Given the description of an element on the screen output the (x, y) to click on. 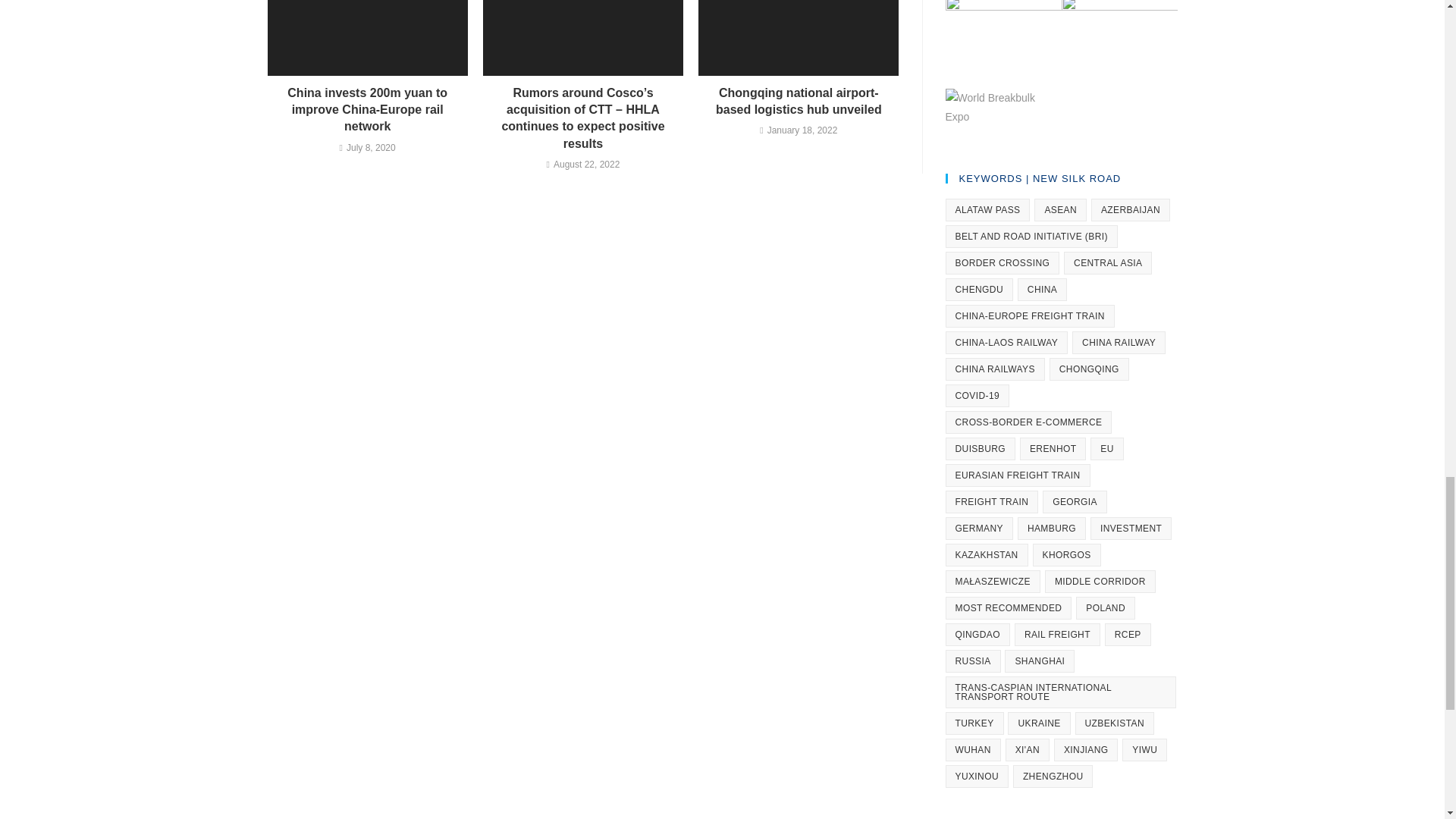
Chongqing national airport-based logistics hub unveiled (798, 101)
China invests 200m yuan to improve China-Europe rail network (367, 110)
China invests 200m yuan to improve China-Europe rail network (367, 110)
Chongqing national airport-based logistics hub unveiled (798, 101)
